Given the description of an element on the screen output the (x, y) to click on. 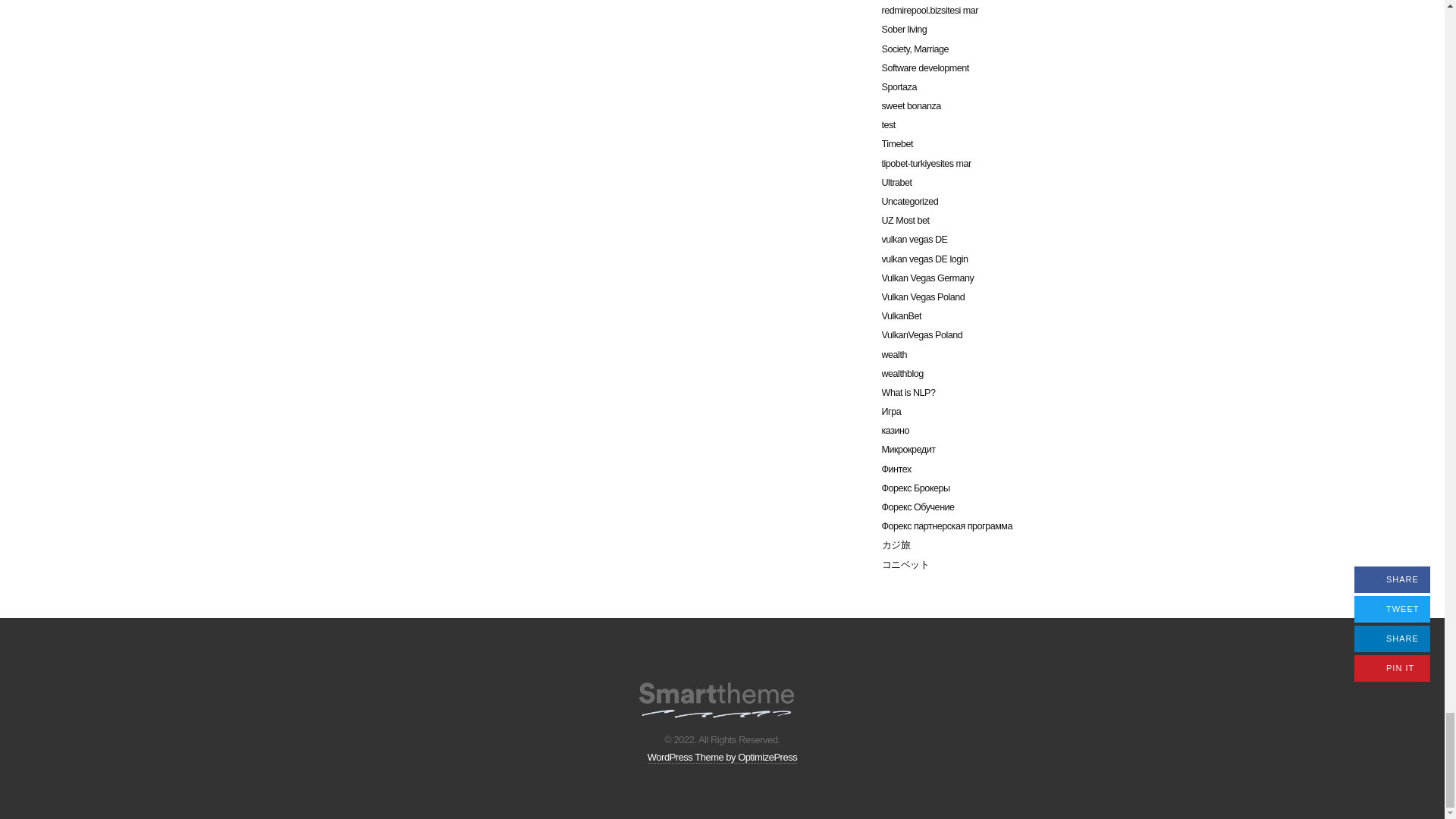
Cursos (716, 696)
